Given the description of an element on the screen output the (x, y) to click on. 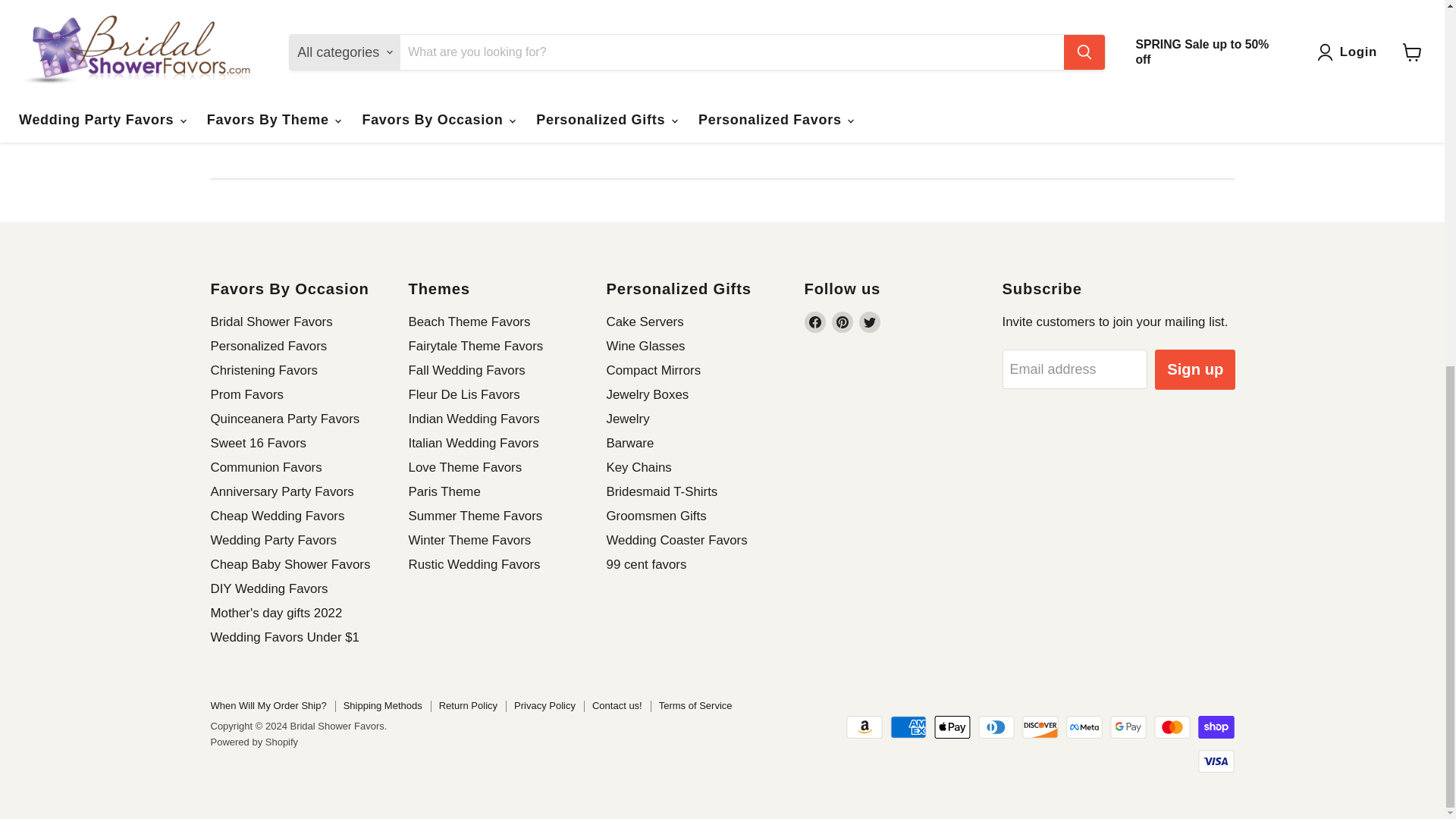
Facebook (814, 322)
Pinterest (841, 322)
Twitter (869, 322)
